Given the description of an element on the screen output the (x, y) to click on. 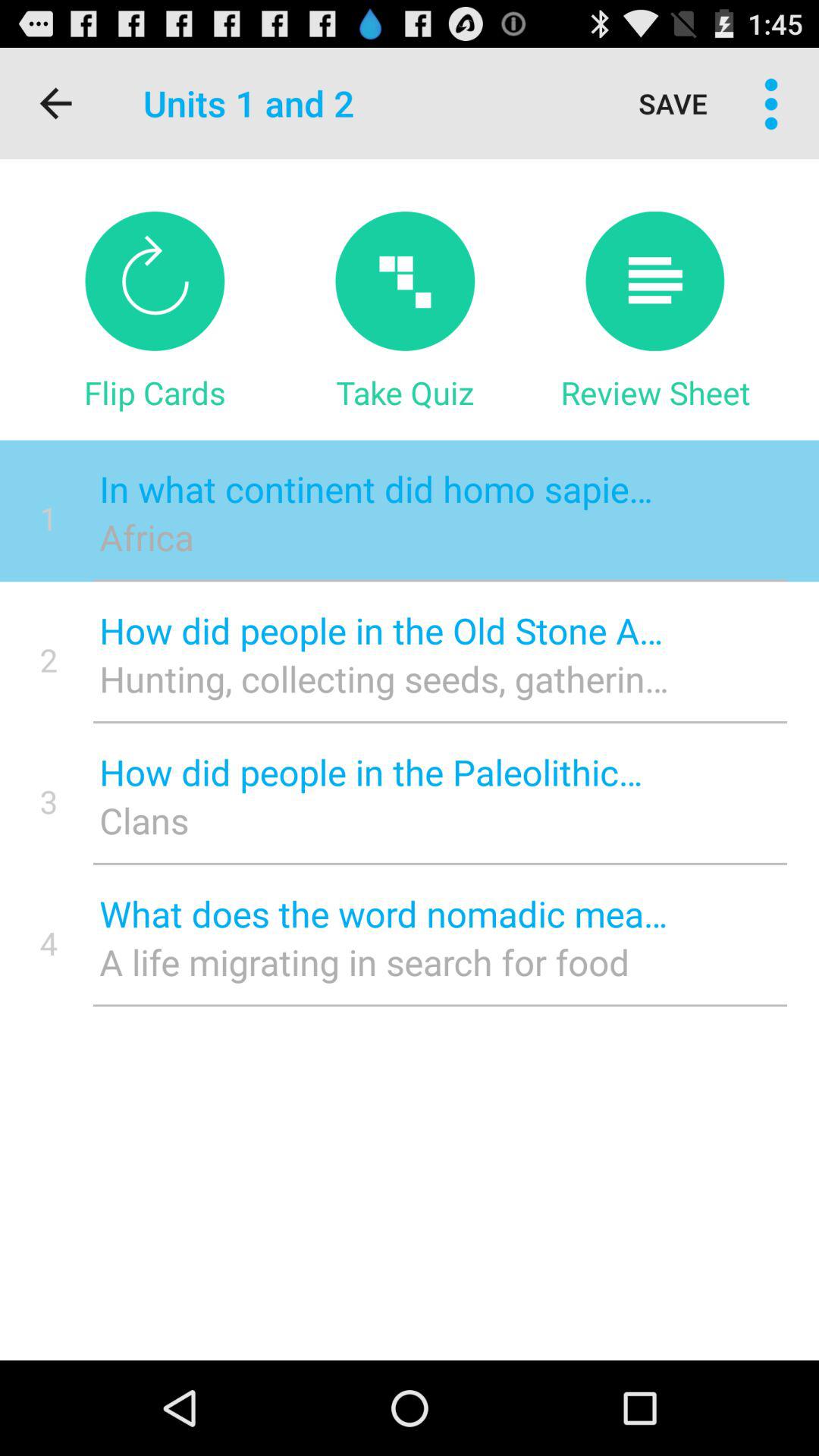
click to review (655, 280)
